Given the description of an element on the screen output the (x, y) to click on. 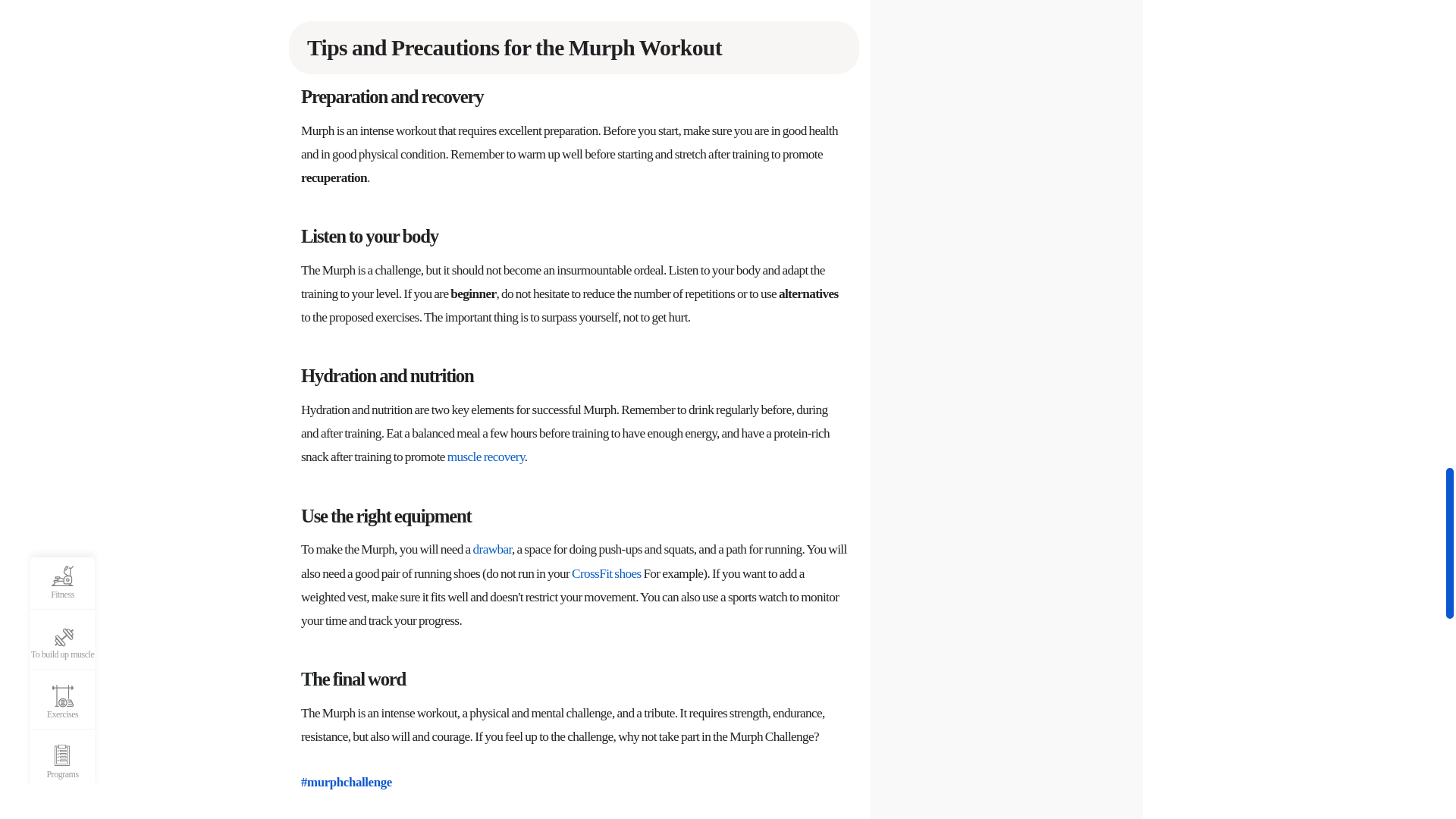
Door pull-up bar: buying guide (492, 549)
The importance of muscle recovery for mass gain (485, 457)
